Given the description of an element on the screen output the (x, y) to click on. 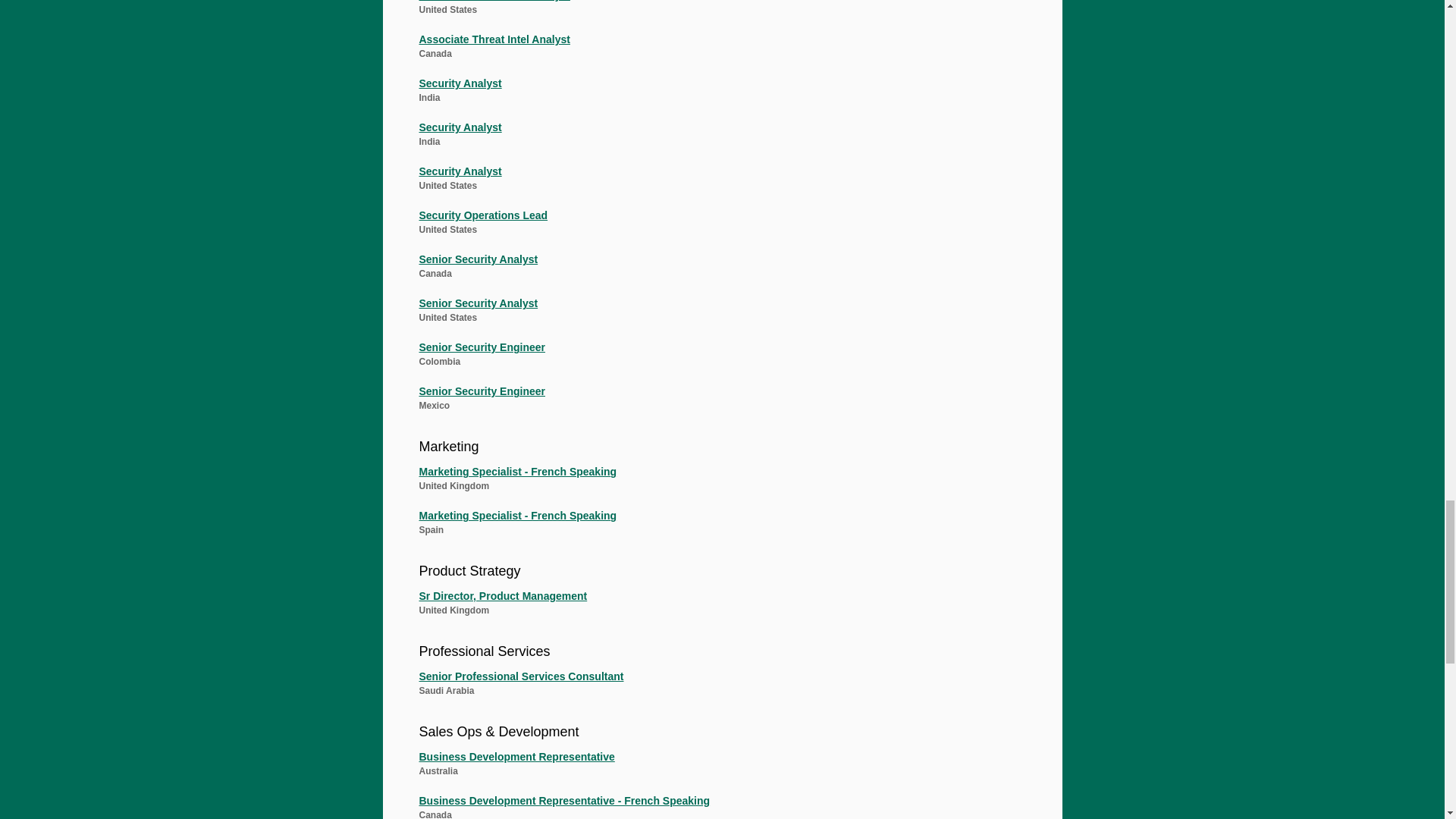
Associate Threat Intel Analyst (714, 10)
Security Analyst (714, 87)
Associate Threat Intel Analyst (714, 43)
